Given the description of an element on the screen output the (x, y) to click on. 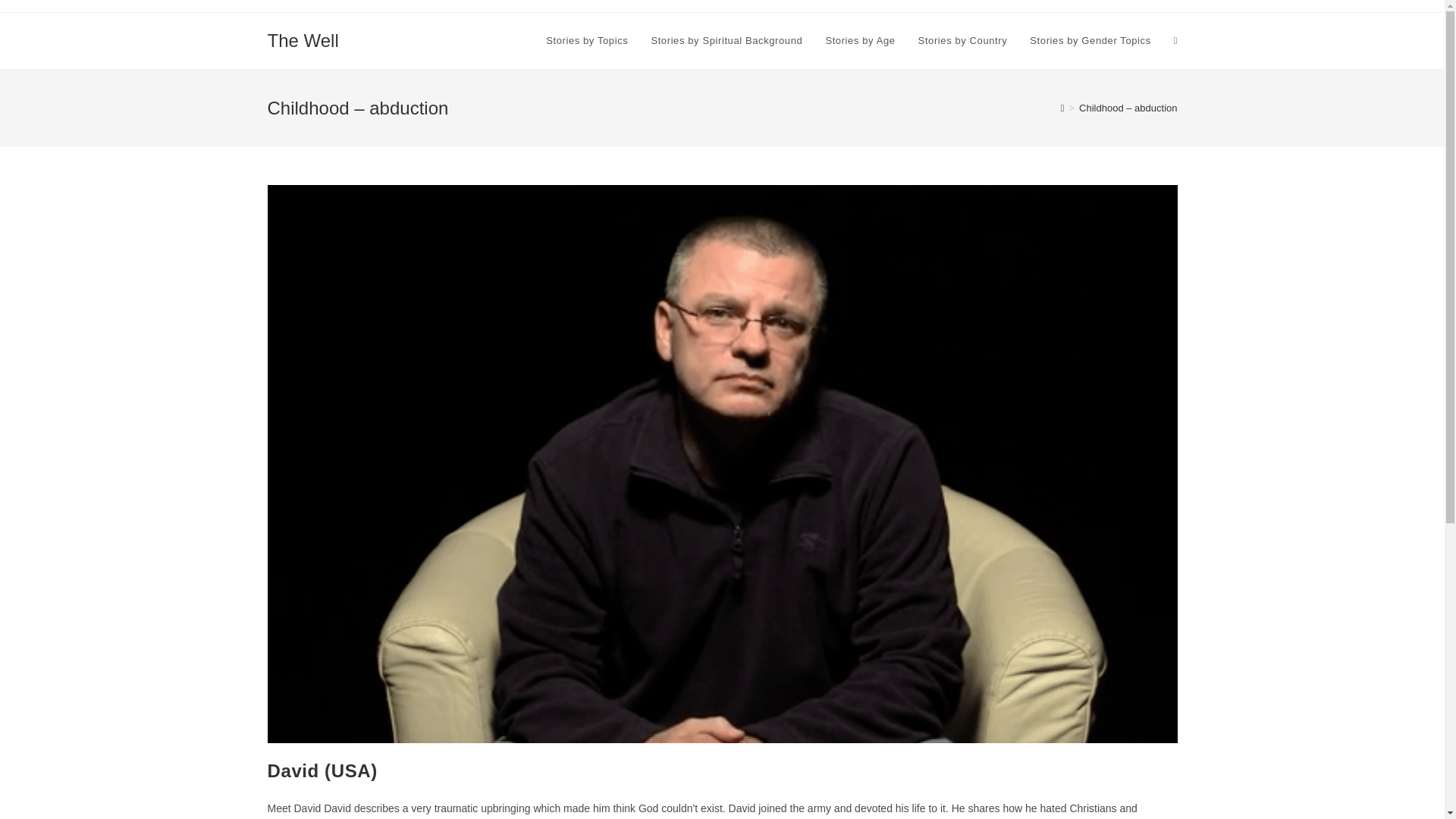
Stories by Spiritual Background (726, 40)
Stories by Gender Topics (1089, 40)
Stories by Age (859, 40)
Stories by Country (963, 40)
The Well (301, 40)
Stories by Topics (586, 40)
